Given the description of an element on the screen output the (x, y) to click on. 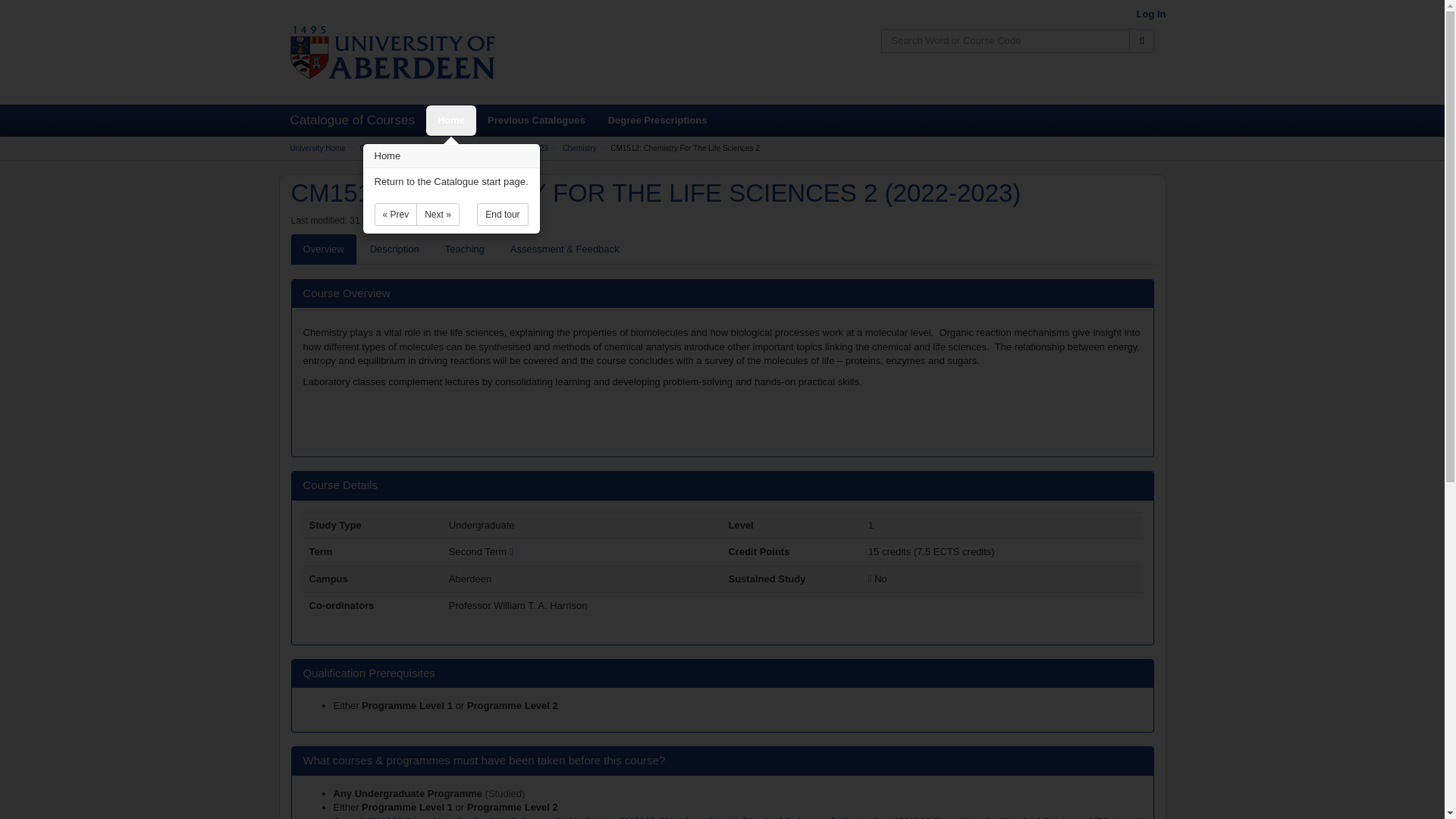
2022-2023 (530, 148)
Degree Prescriptions (657, 120)
University of Aberdeen (392, 52)
UG (408, 793)
Search Catalogue (1141, 41)
University Home (317, 148)
Teaching (464, 249)
Undergraduate (471, 148)
Overview (323, 249)
CM1020 Chemistry for the Life Sciences 1 (464, 817)
